Given the description of an element on the screen output the (x, y) to click on. 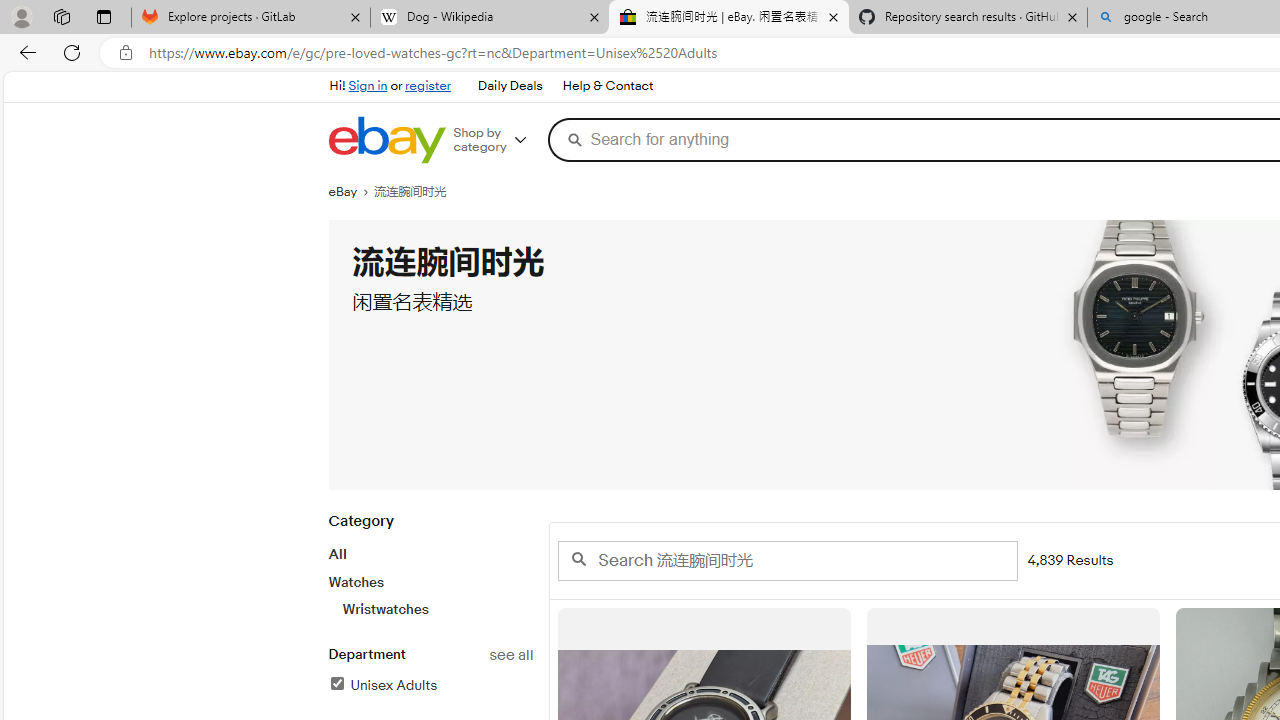
Wristwatches (437, 609)
Shop by category (496, 140)
eBay Home (386, 139)
